Given the description of an element on the screen output the (x, y) to click on. 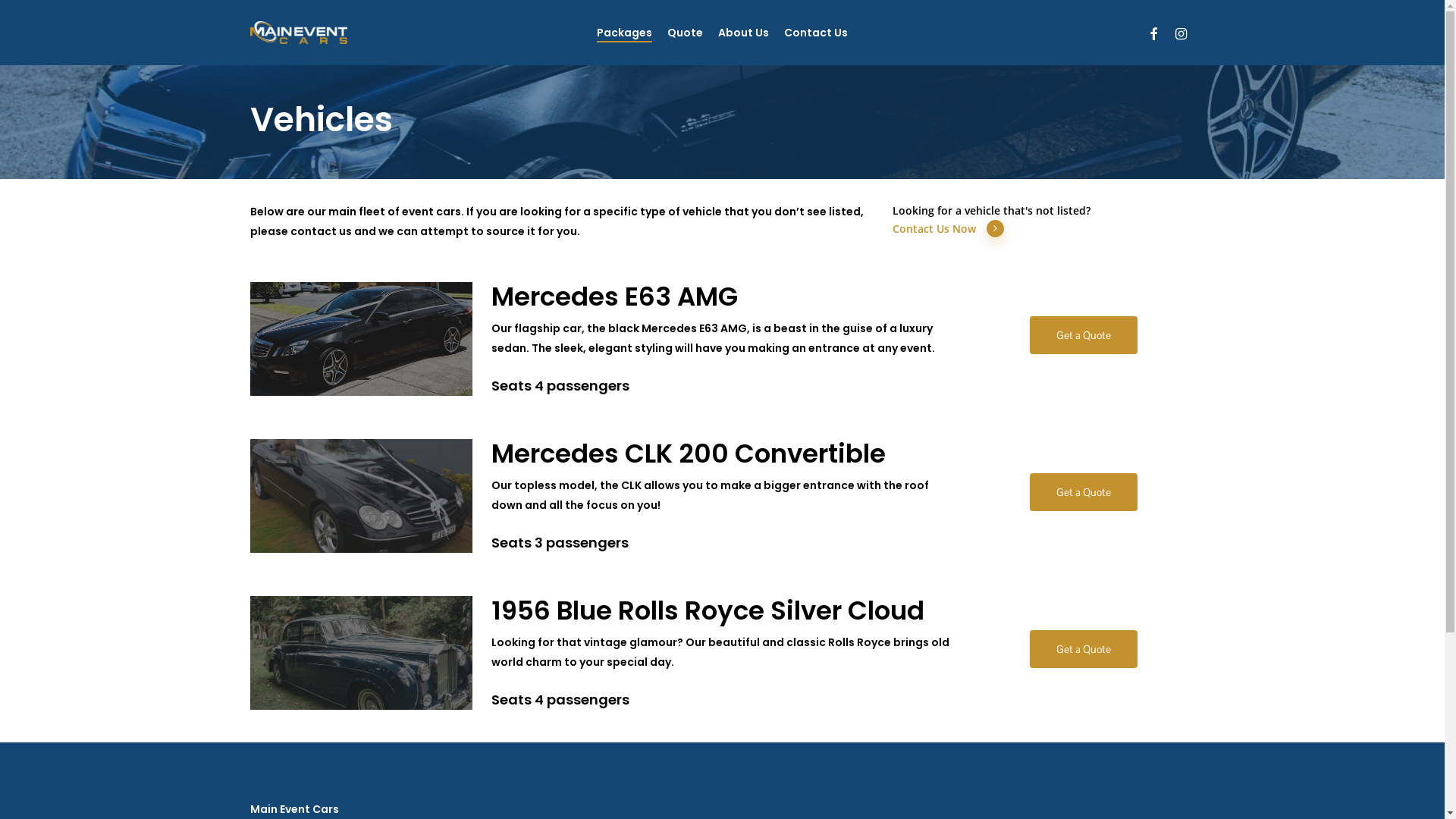
Packages Element type: text (624, 32)
About Us Element type: text (743, 32)
Get a Quote Element type: text (1083, 492)
instagram Element type: text (1180, 31)
Get a Quote Element type: text (1083, 649)
facebook Element type: text (1153, 31)
Get a Quote Element type: text (1083, 335)
Contact Us Now Element type: text (948, 228)
Contact Us Element type: text (815, 32)
Quote Element type: text (684, 32)
